Given the description of an element on the screen output the (x, y) to click on. 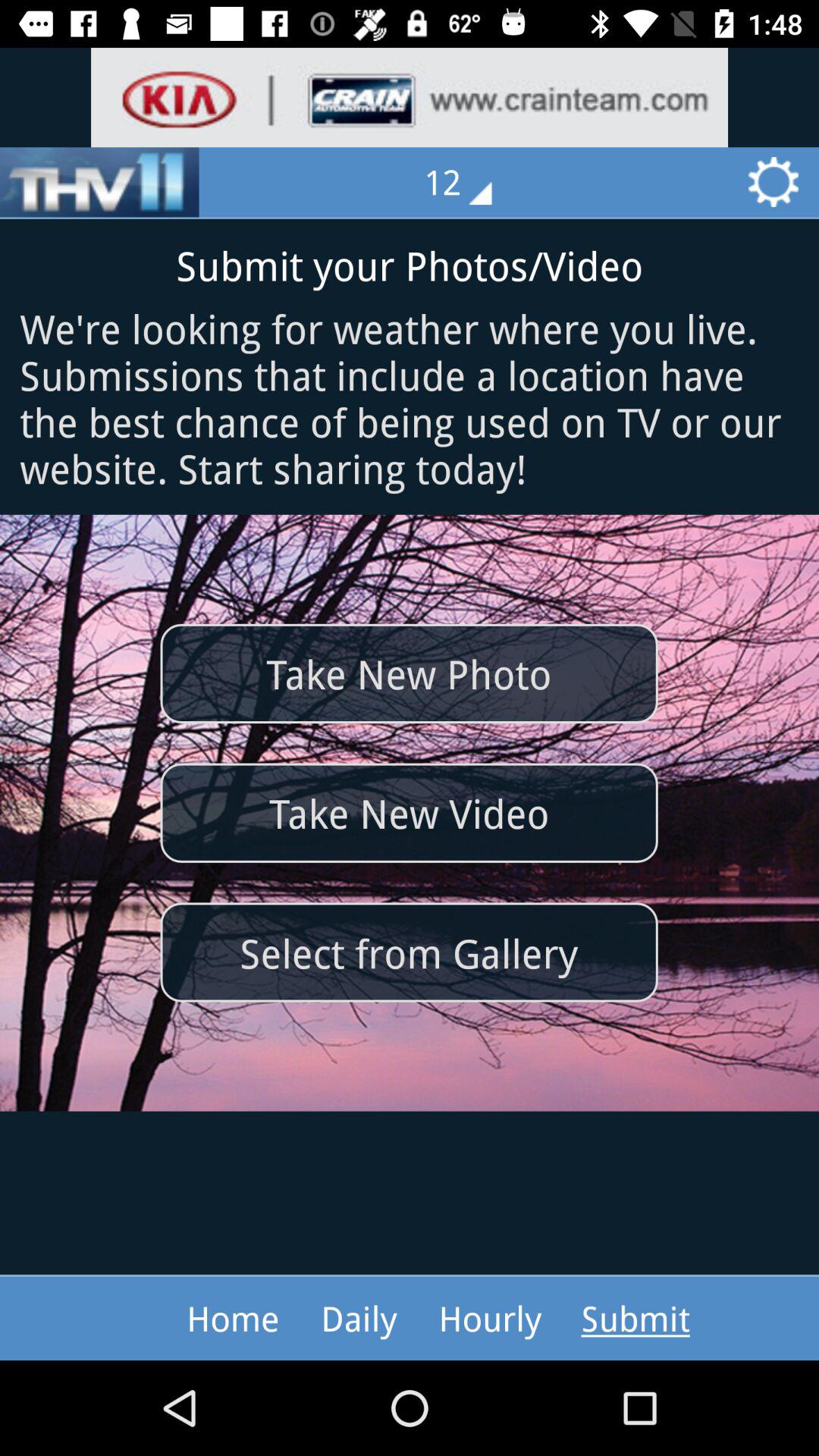
flip until the select from gallery (409, 952)
